Given the description of an element on the screen output the (x, y) to click on. 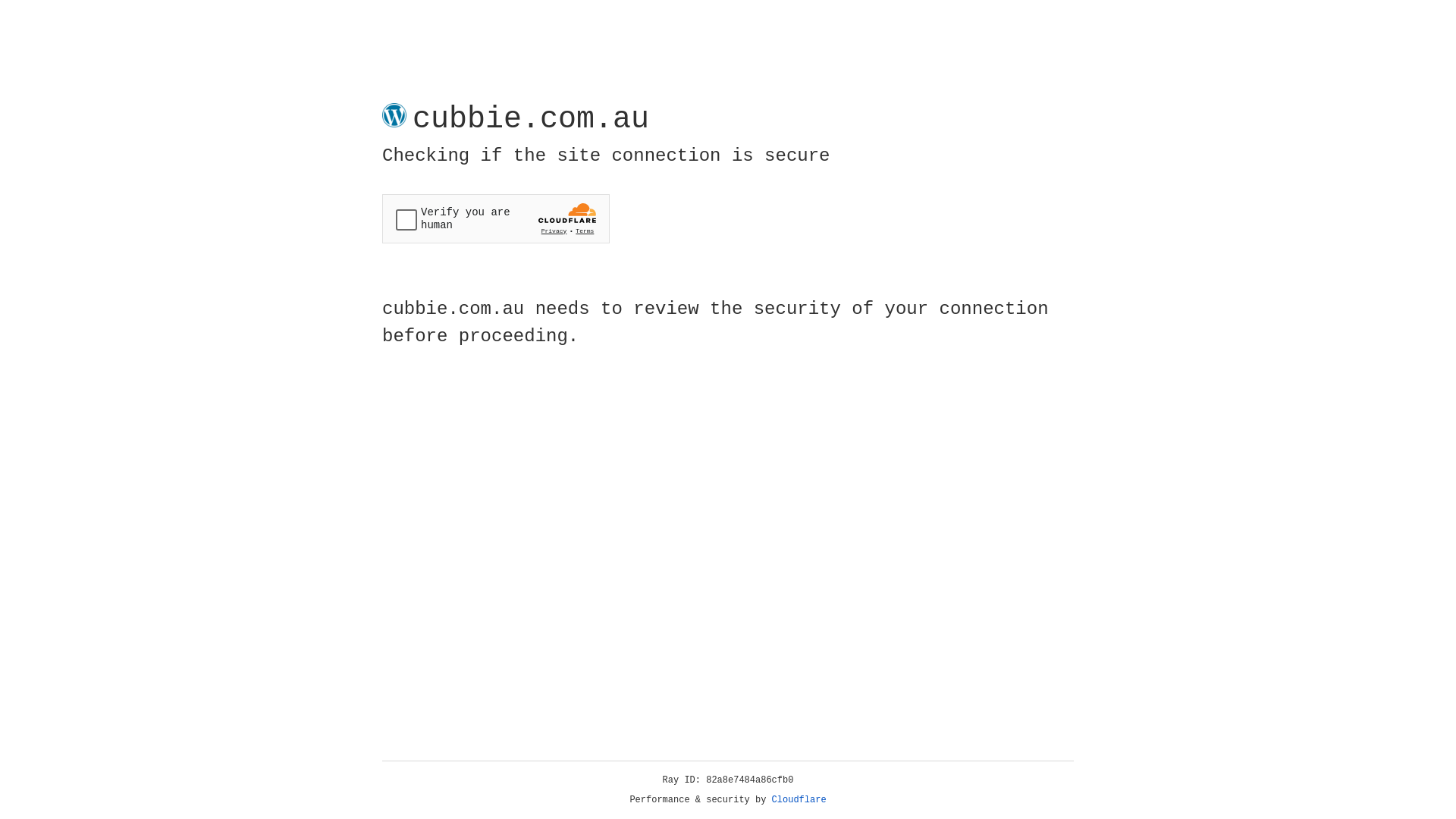
Widget containing a Cloudflare security challenge Element type: hover (495, 218)
Cloudflare Element type: text (798, 799)
